Given the description of an element on the screen output the (x, y) to click on. 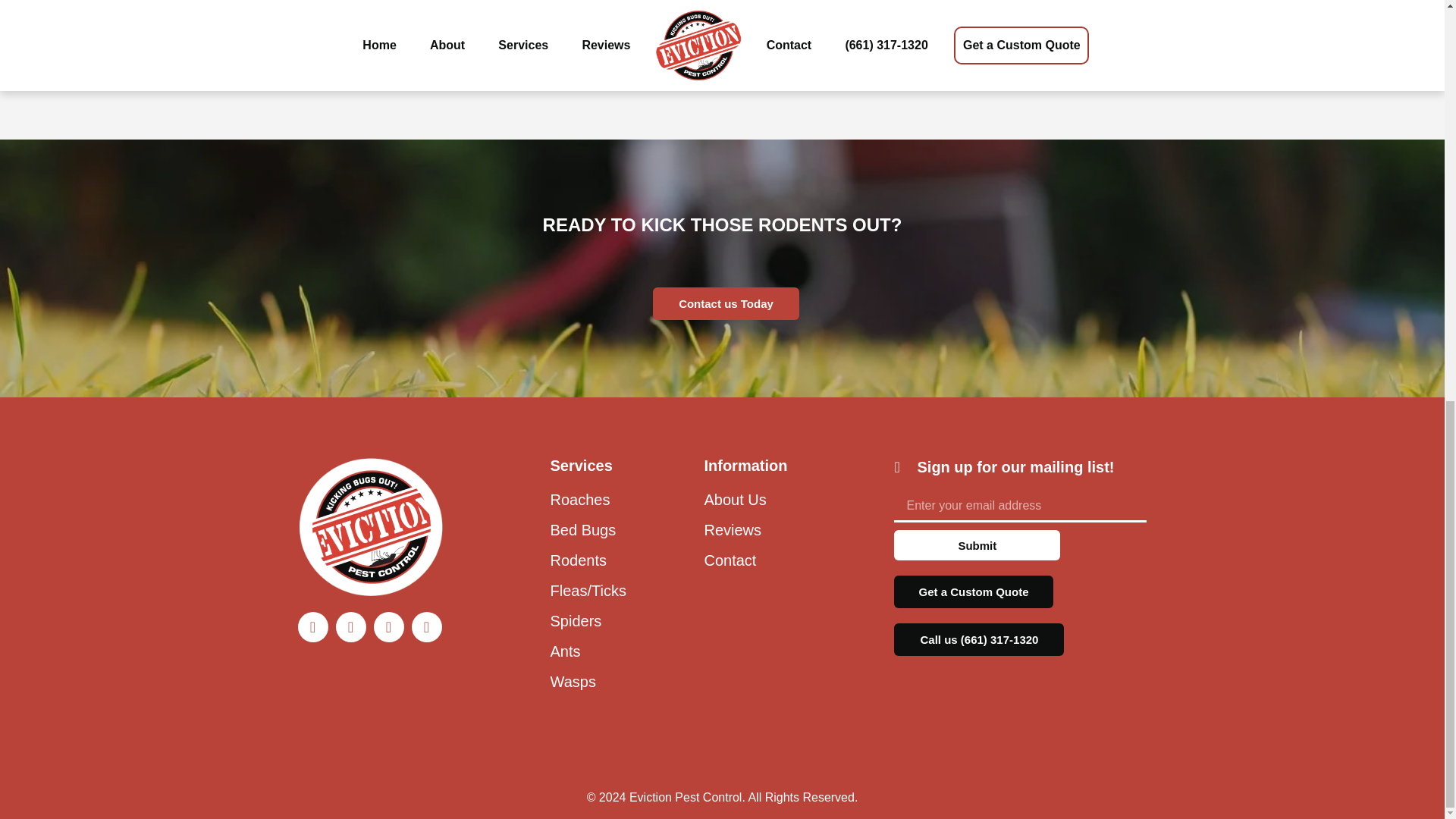
Contact us Today (725, 303)
Roaches (619, 499)
